Given the description of an element on the screen output the (x, y) to click on. 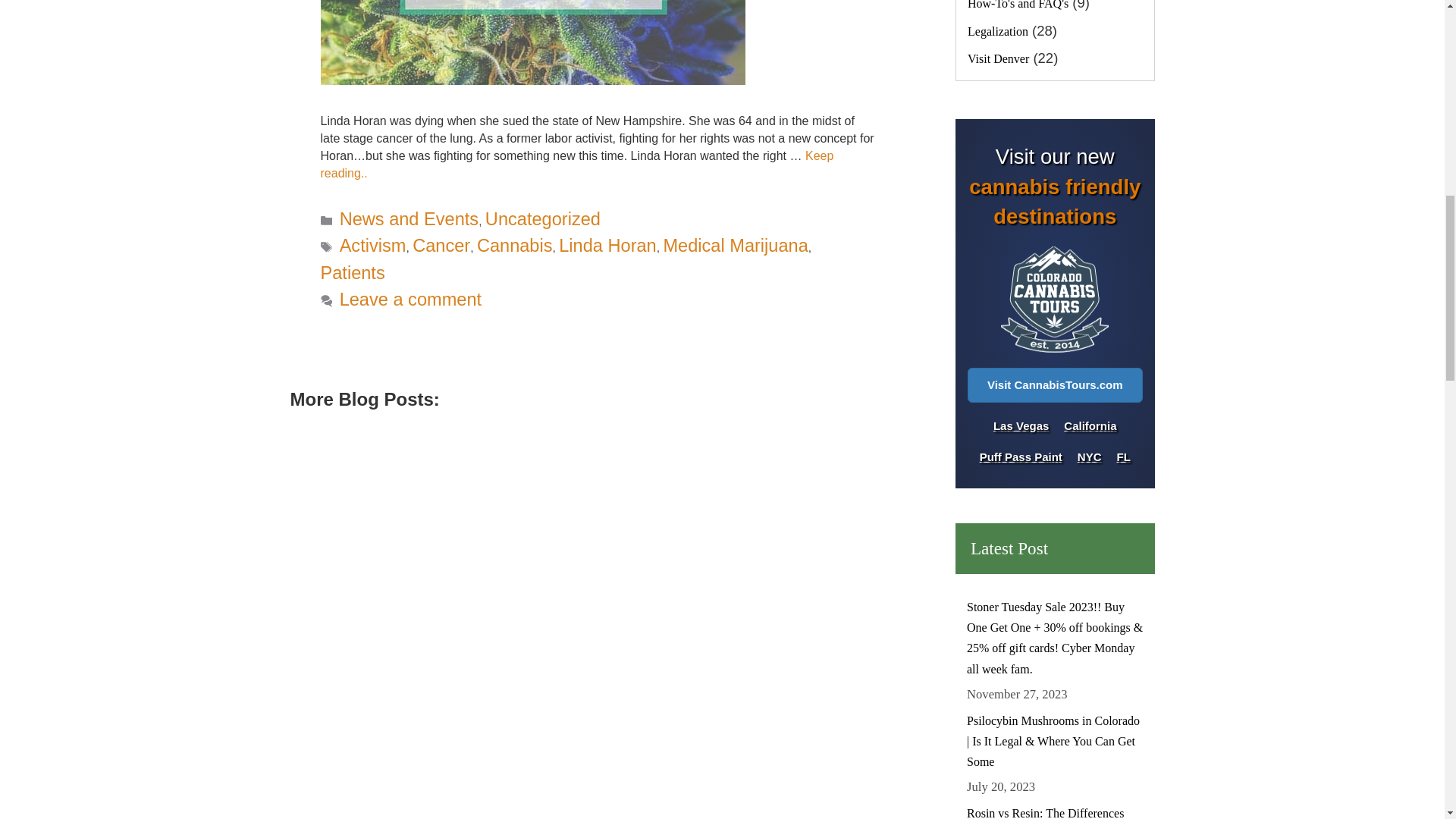
Visit CannabisTours.com (1055, 384)
You Should Know: Linda Horan (576, 164)
Cannabis (515, 245)
News and Events (409, 218)
Medical Marijuana (735, 245)
Keep reading.. (576, 164)
Patients (352, 272)
visit Puff Pass Paint Orlando Fl classes (1123, 456)
Leave a comment (410, 299)
visit Puff Pass Paint  (1020, 456)
Linda Horan (607, 245)
Activism (372, 245)
Cannabis Tours Established 2014 (1054, 299)
visit Puff Pass Paint NYC classes (1089, 456)
Uncategorized (541, 218)
